Given the description of an element on the screen output the (x, y) to click on. 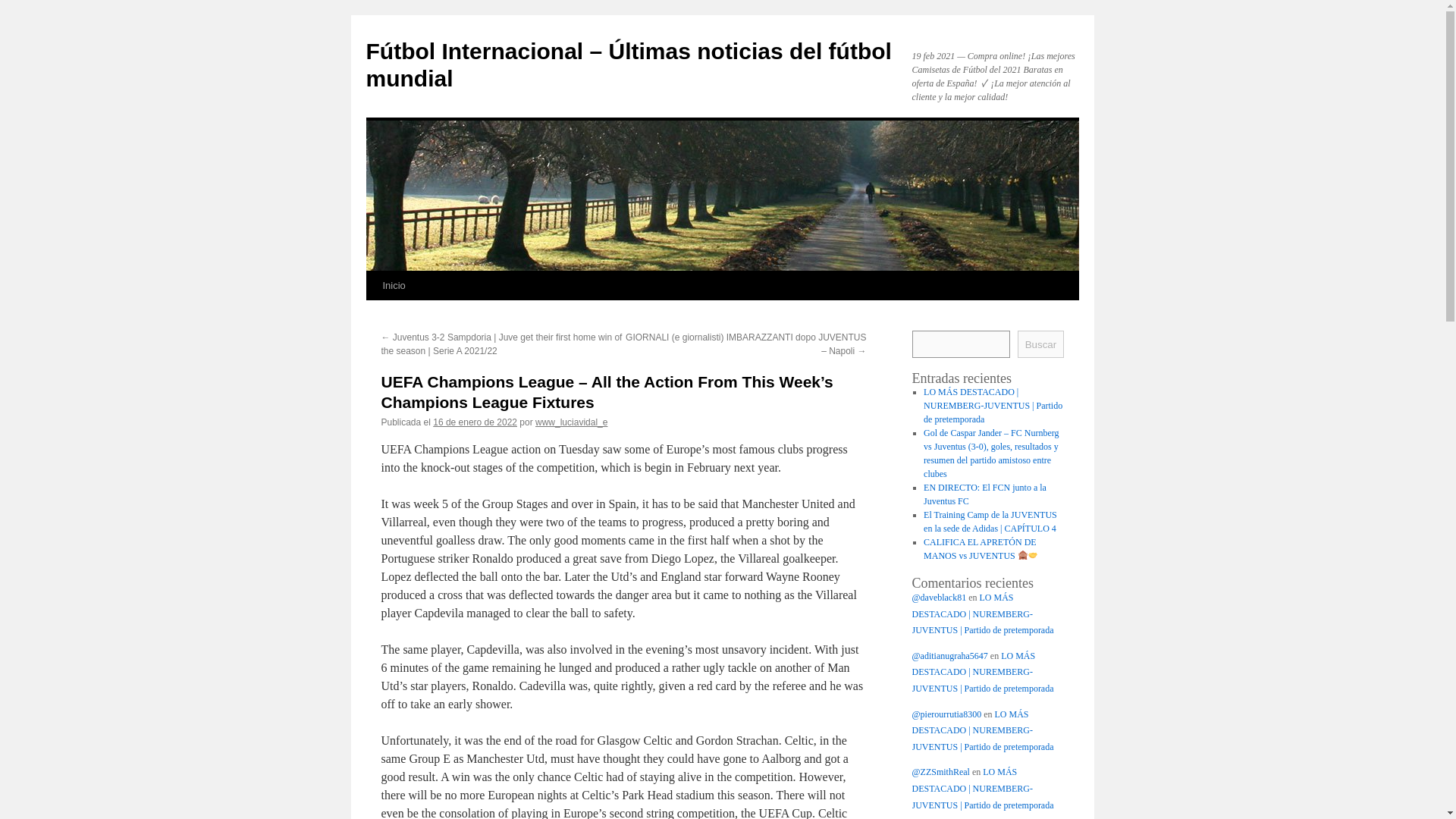
16 de enero de 2022 (474, 421)
Buscar (1039, 343)
Inicio (393, 285)
EN DIRECTO: El FCN junto a la Juventus FC (984, 494)
01:04 (474, 421)
